Given the description of an element on the screen output the (x, y) to click on. 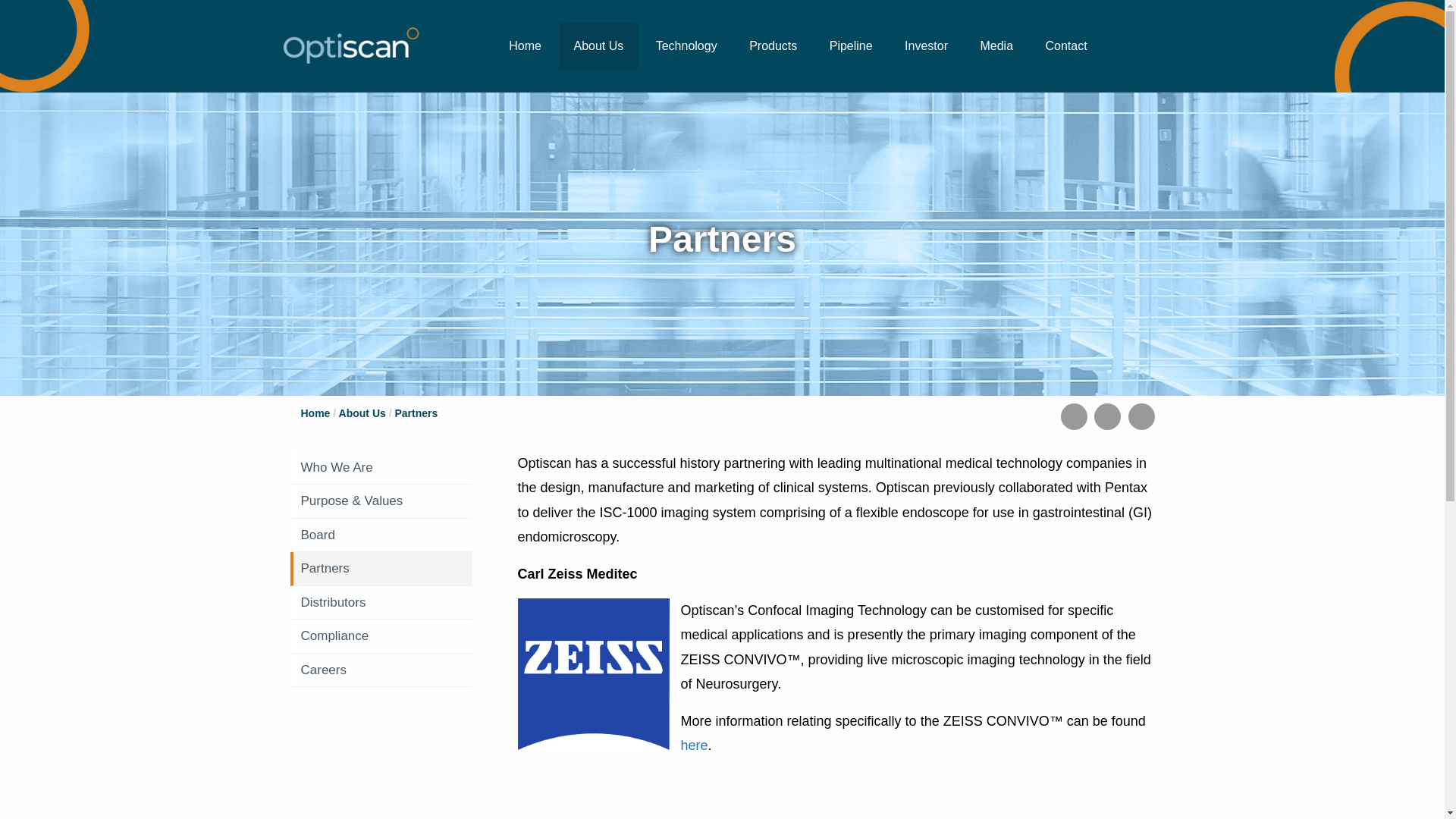
Font Smaller (1107, 416)
Print Page (1074, 416)
Font Larger (1141, 416)
